Given the description of an element on the screen output the (x, y) to click on. 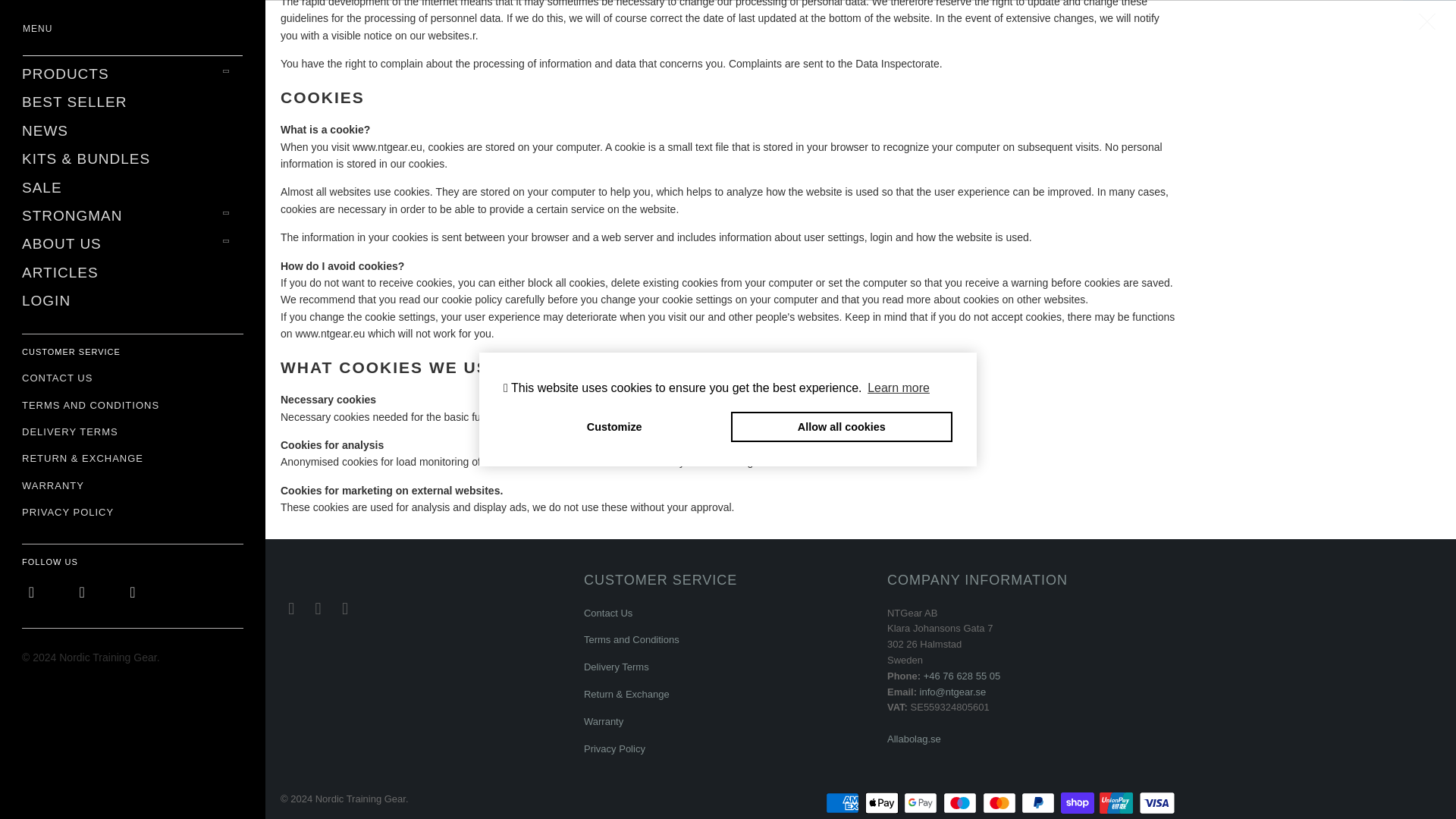
Nordic Training Gear on Instagram (318, 608)
Maestro (961, 802)
PayPal (1040, 802)
Apple Pay (882, 802)
Google Pay (922, 802)
American Express (843, 802)
Mastercard (1000, 802)
Shop Pay (1079, 802)
Nordic Training Gear on Facebook (291, 608)
Email Nordic Training Gear (345, 608)
Union Pay (1117, 802)
Visa (1156, 802)
